Given the description of an element on the screen output the (x, y) to click on. 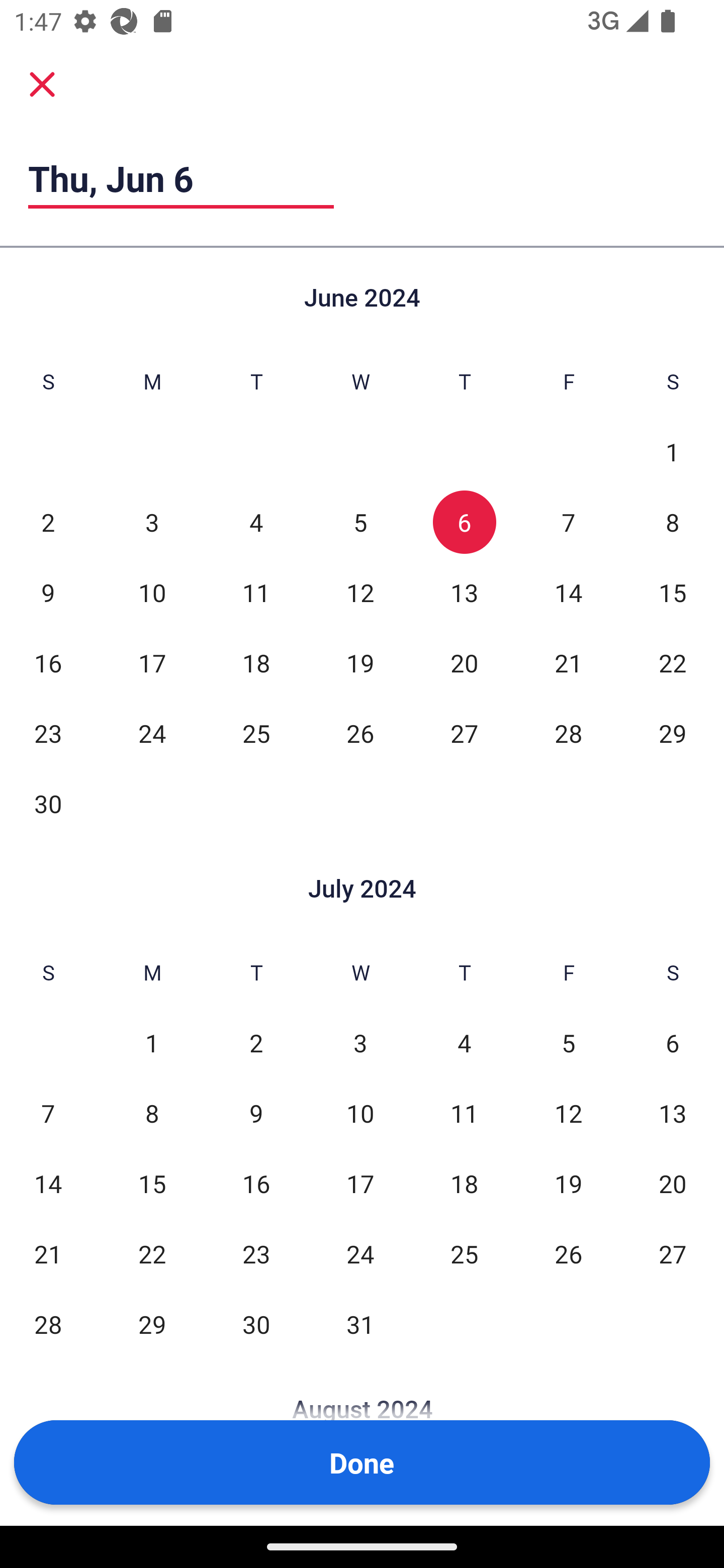
Cancel (42, 84)
Thu, Jun 6 (180, 178)
1 Sat, Jun 1, Not Selected (672, 452)
2 Sun, Jun 2, Not Selected (48, 521)
3 Mon, Jun 3, Not Selected (152, 521)
4 Tue, Jun 4, Not Selected (256, 521)
5 Wed, Jun 5, Not Selected (360, 521)
6 Thu, Jun 6, Selected (464, 521)
7 Fri, Jun 7, Not Selected (568, 521)
8 Sat, Jun 8, Not Selected (672, 521)
9 Sun, Jun 9, Not Selected (48, 591)
10 Mon, Jun 10, Not Selected (152, 591)
11 Tue, Jun 11, Not Selected (256, 591)
12 Wed, Jun 12, Not Selected (360, 591)
13 Thu, Jun 13, Not Selected (464, 591)
14 Fri, Jun 14, Not Selected (568, 591)
15 Sat, Jun 15, Not Selected (672, 591)
16 Sun, Jun 16, Not Selected (48, 662)
17 Mon, Jun 17, Not Selected (152, 662)
18 Tue, Jun 18, Not Selected (256, 662)
19 Wed, Jun 19, Not Selected (360, 662)
20 Thu, Jun 20, Not Selected (464, 662)
21 Fri, Jun 21, Not Selected (568, 662)
22 Sat, Jun 22, Not Selected (672, 662)
23 Sun, Jun 23, Not Selected (48, 732)
24 Mon, Jun 24, Not Selected (152, 732)
25 Tue, Jun 25, Not Selected (256, 732)
26 Wed, Jun 26, Not Selected (360, 732)
27 Thu, Jun 27, Not Selected (464, 732)
28 Fri, Jun 28, Not Selected (568, 732)
29 Sat, Jun 29, Not Selected (672, 732)
30 Sun, Jun 30, Not Selected (48, 803)
1 Mon, Jul 1, Not Selected (152, 1043)
2 Tue, Jul 2, Not Selected (256, 1043)
3 Wed, Jul 3, Not Selected (360, 1043)
4 Thu, Jul 4, Not Selected (464, 1043)
5 Fri, Jul 5, Not Selected (568, 1043)
6 Sat, Jul 6, Not Selected (672, 1043)
7 Sun, Jul 7, Not Selected (48, 1112)
8 Mon, Jul 8, Not Selected (152, 1112)
9 Tue, Jul 9, Not Selected (256, 1112)
10 Wed, Jul 10, Not Selected (360, 1112)
11 Thu, Jul 11, Not Selected (464, 1112)
12 Fri, Jul 12, Not Selected (568, 1112)
13 Sat, Jul 13, Not Selected (672, 1112)
14 Sun, Jul 14, Not Selected (48, 1182)
15 Mon, Jul 15, Not Selected (152, 1182)
16 Tue, Jul 16, Not Selected (256, 1182)
17 Wed, Jul 17, Not Selected (360, 1182)
18 Thu, Jul 18, Not Selected (464, 1182)
19 Fri, Jul 19, Not Selected (568, 1182)
20 Sat, Jul 20, Not Selected (672, 1182)
21 Sun, Jul 21, Not Selected (48, 1253)
22 Mon, Jul 22, Not Selected (152, 1253)
23 Tue, Jul 23, Not Selected (256, 1253)
24 Wed, Jul 24, Not Selected (360, 1253)
25 Thu, Jul 25, Not Selected (464, 1253)
26 Fri, Jul 26, Not Selected (568, 1253)
27 Sat, Jul 27, Not Selected (672, 1253)
28 Sun, Jul 28, Not Selected (48, 1323)
29 Mon, Jul 29, Not Selected (152, 1323)
30 Tue, Jul 30, Not Selected (256, 1323)
31 Wed, Jul 31, Not Selected (360, 1323)
Done Button Done (361, 1462)
